Given the description of an element on the screen output the (x, y) to click on. 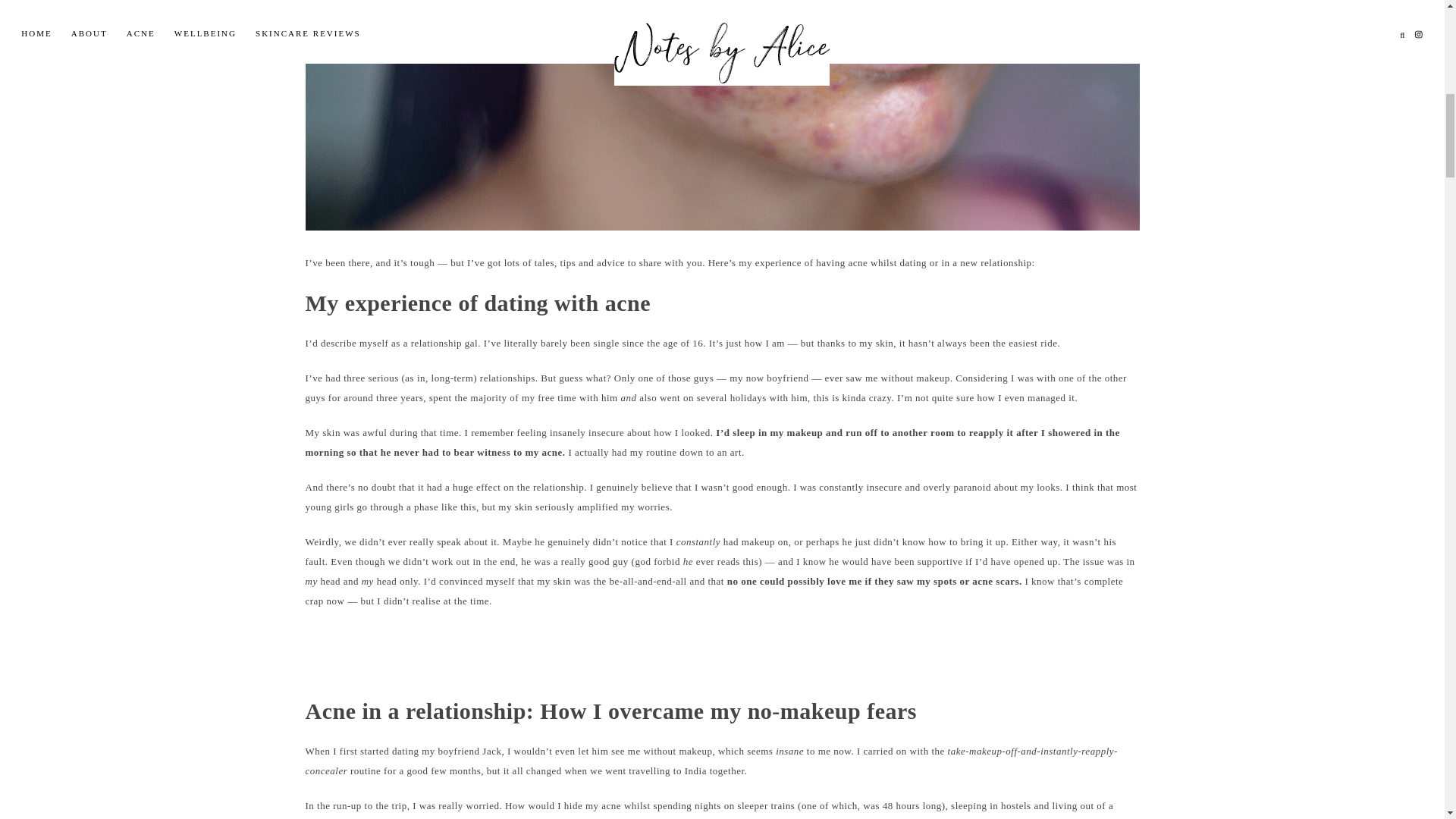
acne scars (995, 581)
travelling (648, 770)
